Given the description of an element on the screen output the (x, y) to click on. 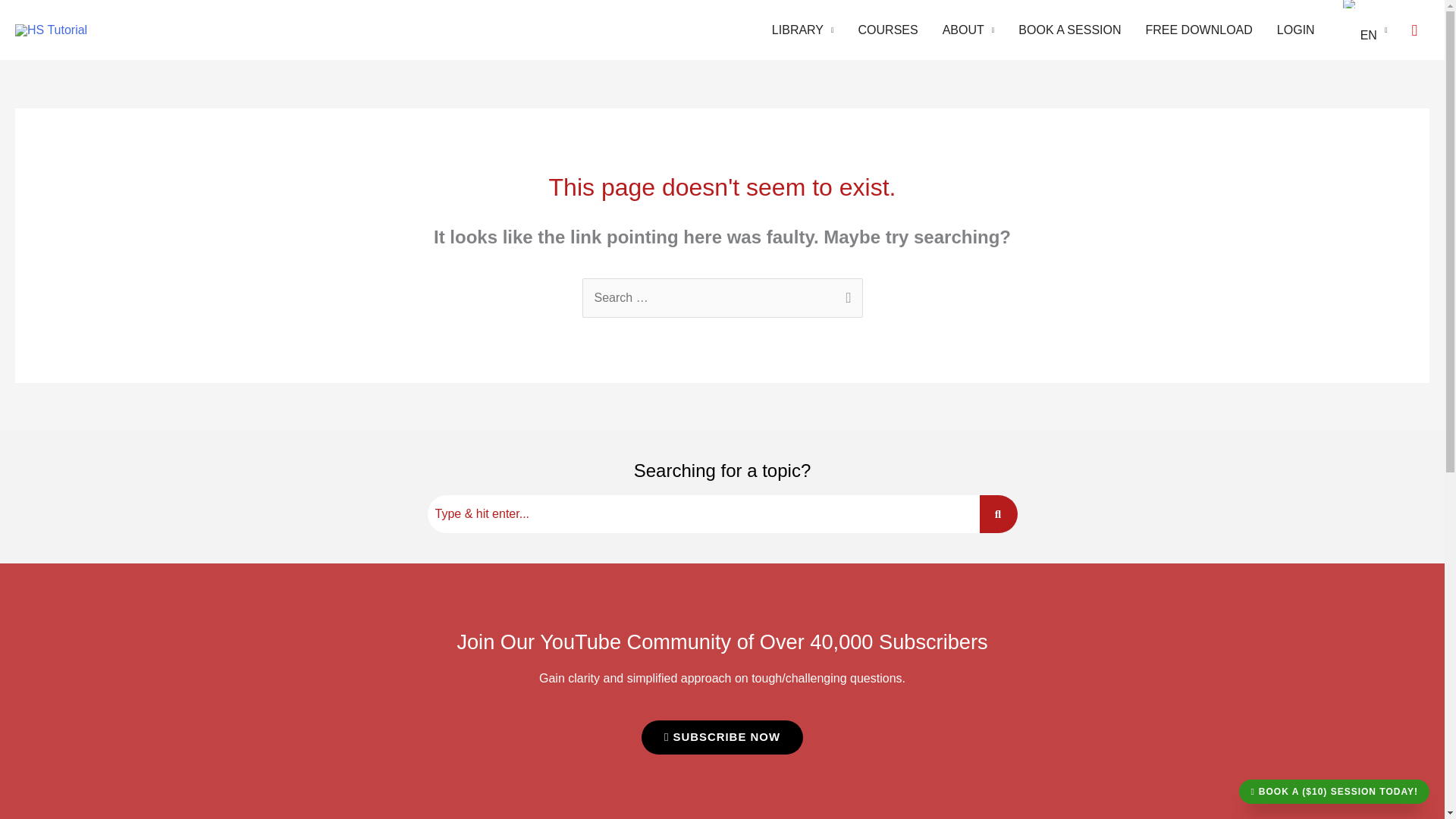
English (1349, 4)
COURSES (887, 29)
EN (1362, 29)
LOGIN (1295, 29)
BOOK A SESSION (1069, 29)
Search (703, 514)
ABOUT (968, 29)
FREE DOWNLOAD (1197, 29)
LIBRARY (802, 29)
SUBSCRIBE NOW (722, 737)
